Given the description of an element on the screen output the (x, y) to click on. 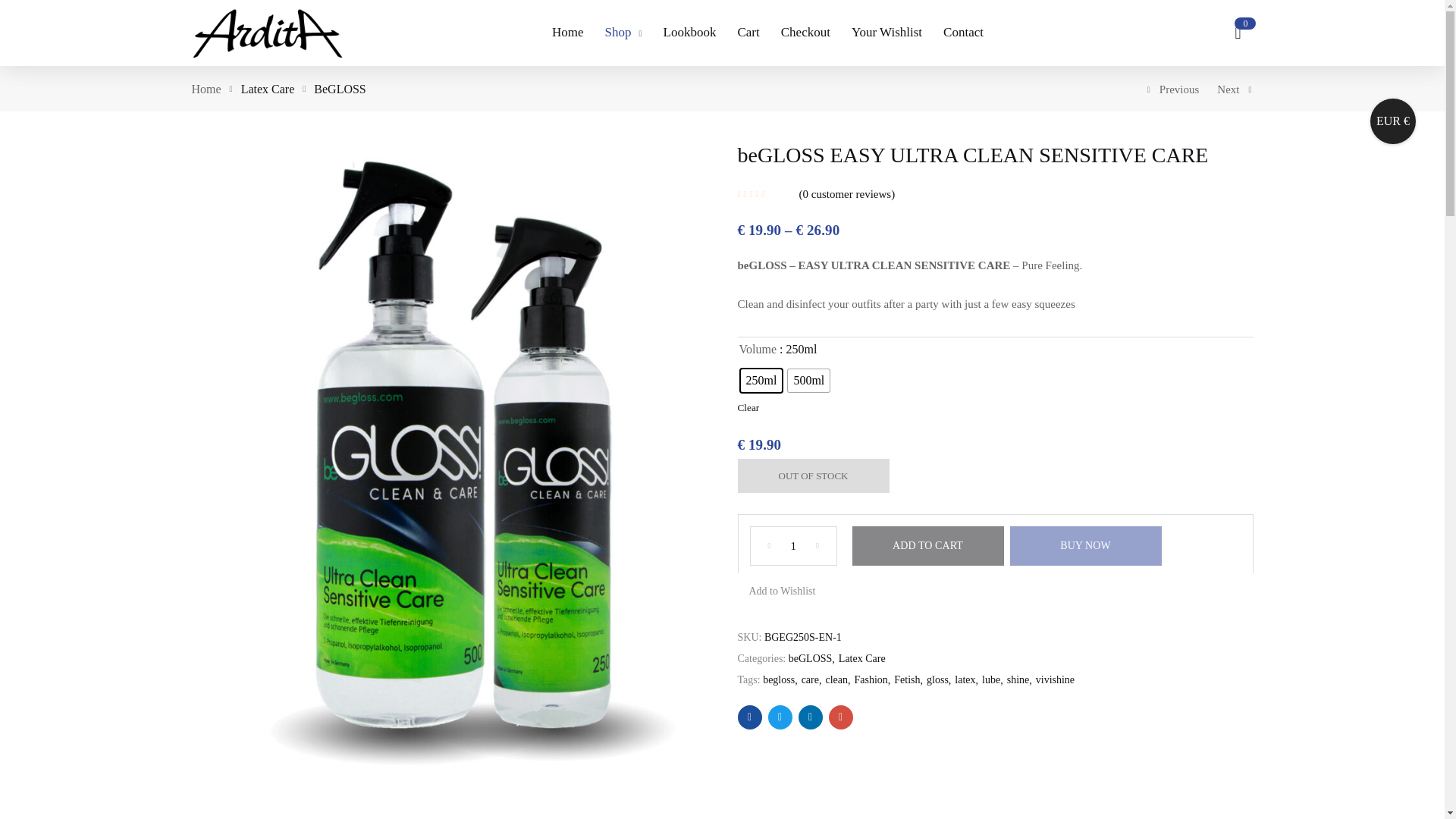
0 (1237, 32)
Wishlist (782, 591)
Previous (1173, 89)
View your shopping cart (1237, 32)
Latex Care (268, 88)
500ml (808, 380)
Home (205, 88)
BeGLOSS (339, 88)
Next (1234, 89)
Your Wishlist (886, 32)
250ml (760, 380)
beGLOSS EASY ULTRA CLEAN SENSITIVE CARE (748, 717)
beGLOSS EASY ULTRA CLEAN SENSITIVE CARE (839, 717)
